Given the description of an element on the screen output the (x, y) to click on. 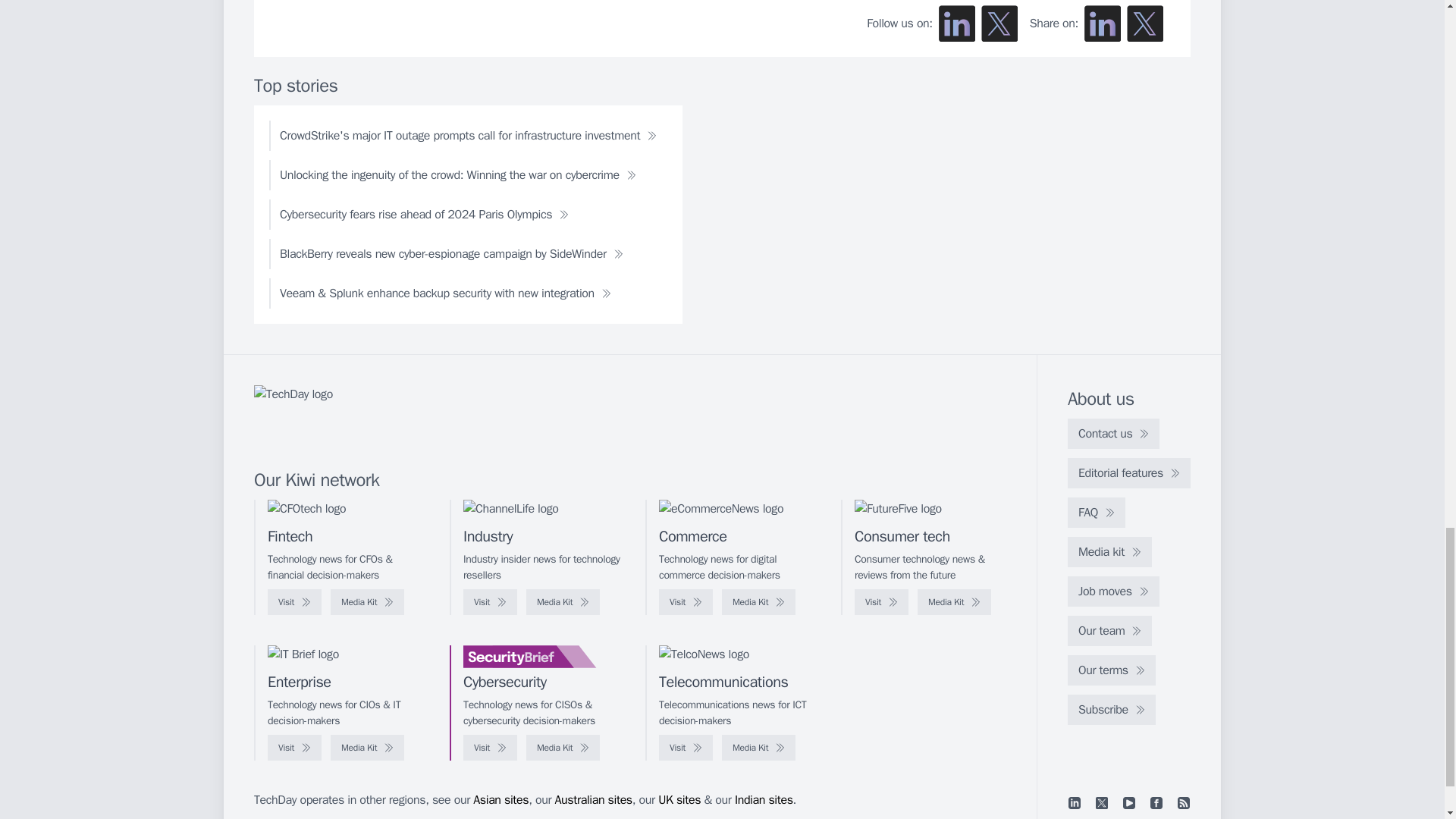
Media Kit (367, 601)
Media Kit (758, 601)
Visit (489, 601)
Cybersecurity fears rise ahead of 2024 Paris Olympics (424, 214)
Visit (881, 601)
Visit (686, 601)
Media Kit (562, 601)
Visit (294, 601)
Media Kit (954, 601)
